Given the description of an element on the screen output the (x, y) to click on. 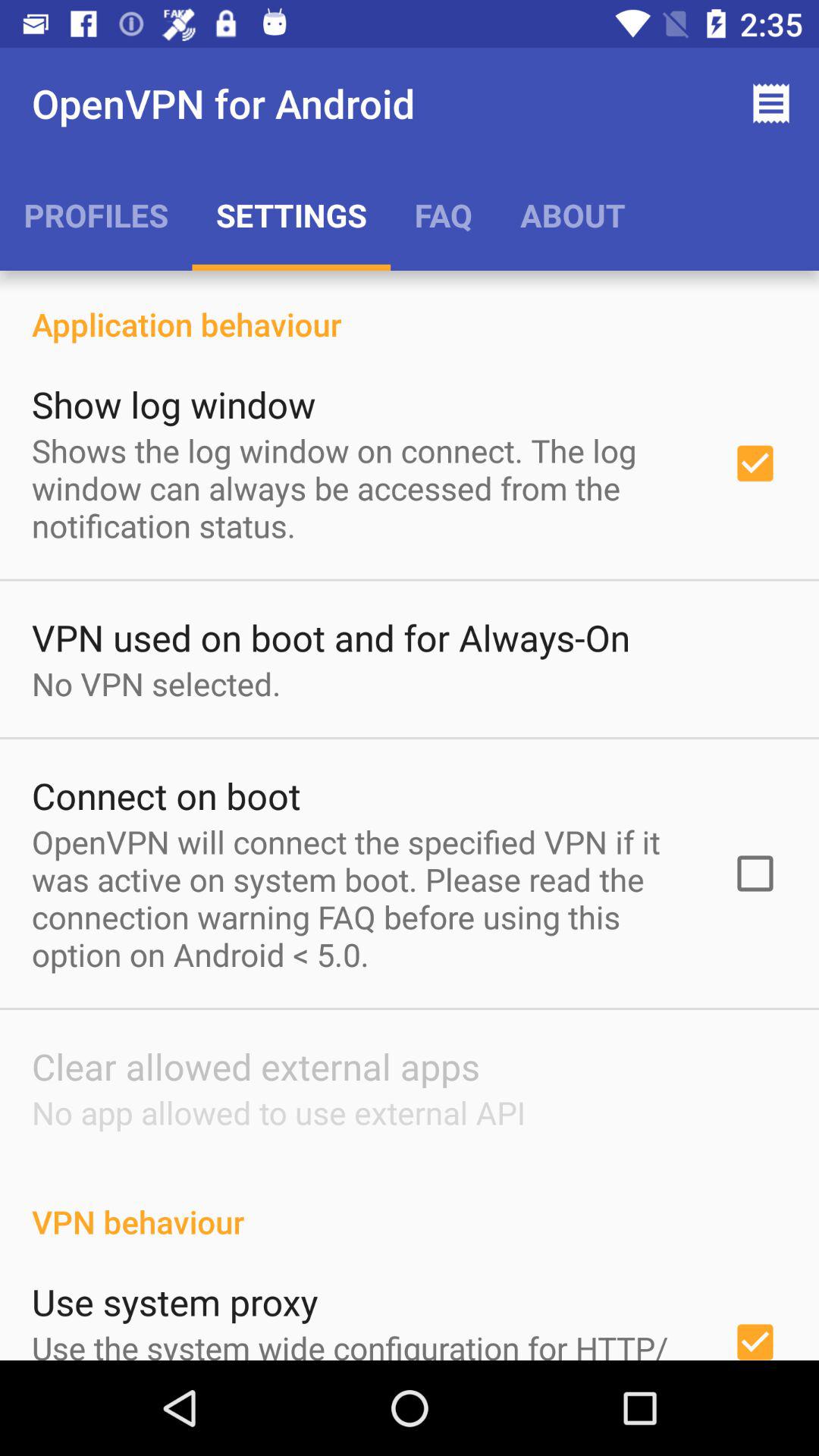
scroll to no vpn selected. icon (155, 683)
